Given the description of an element on the screen output the (x, y) to click on. 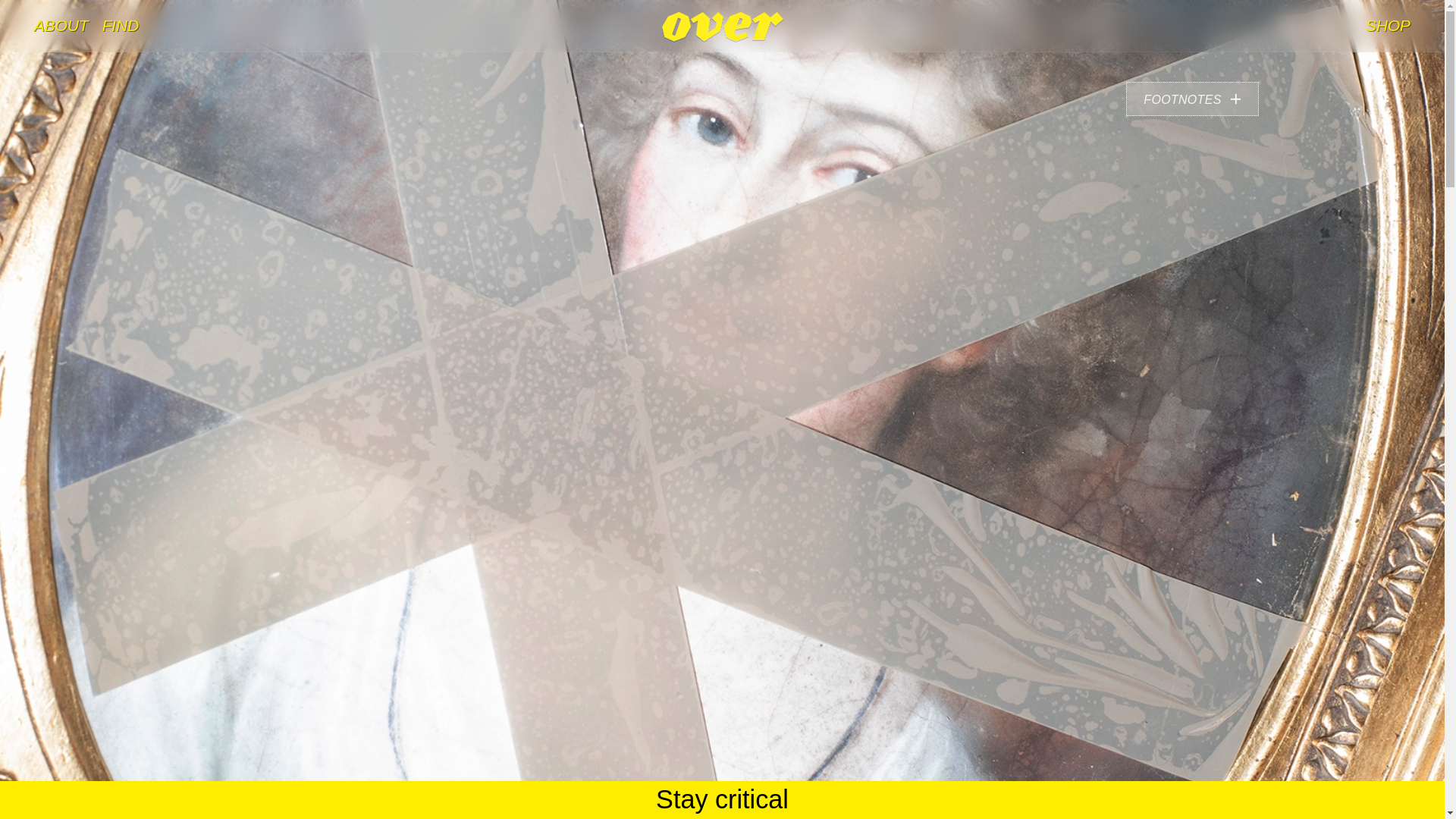
ABOUT (60, 25)
SHOP (1387, 25)
FIND (120, 25)
